Given the description of an element on the screen output the (x, y) to click on. 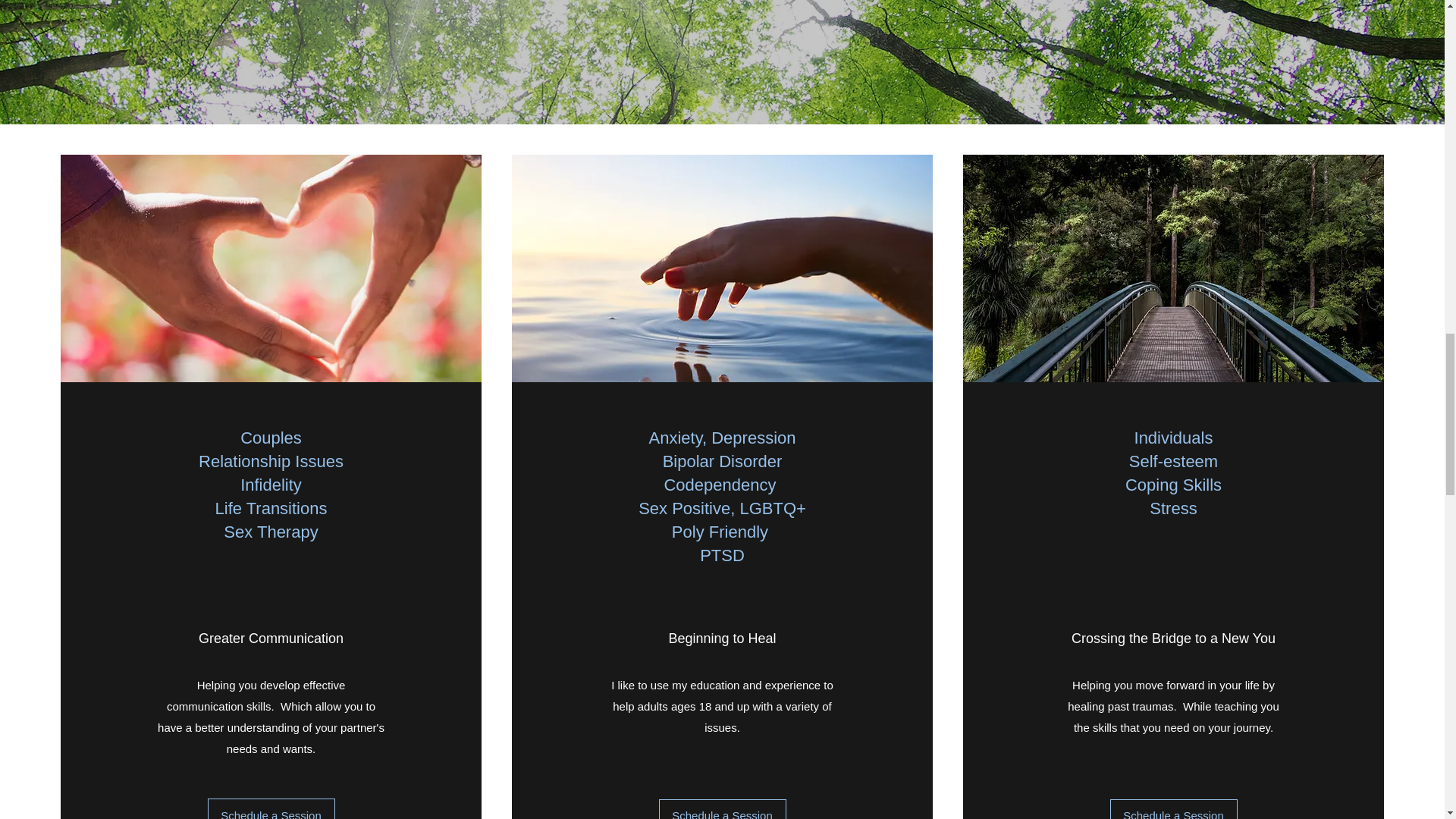
Schedule a Session (271, 808)
Schedule a Session (1173, 809)
Schedule a Session (722, 809)
